Given the description of an element on the screen output the (x, y) to click on. 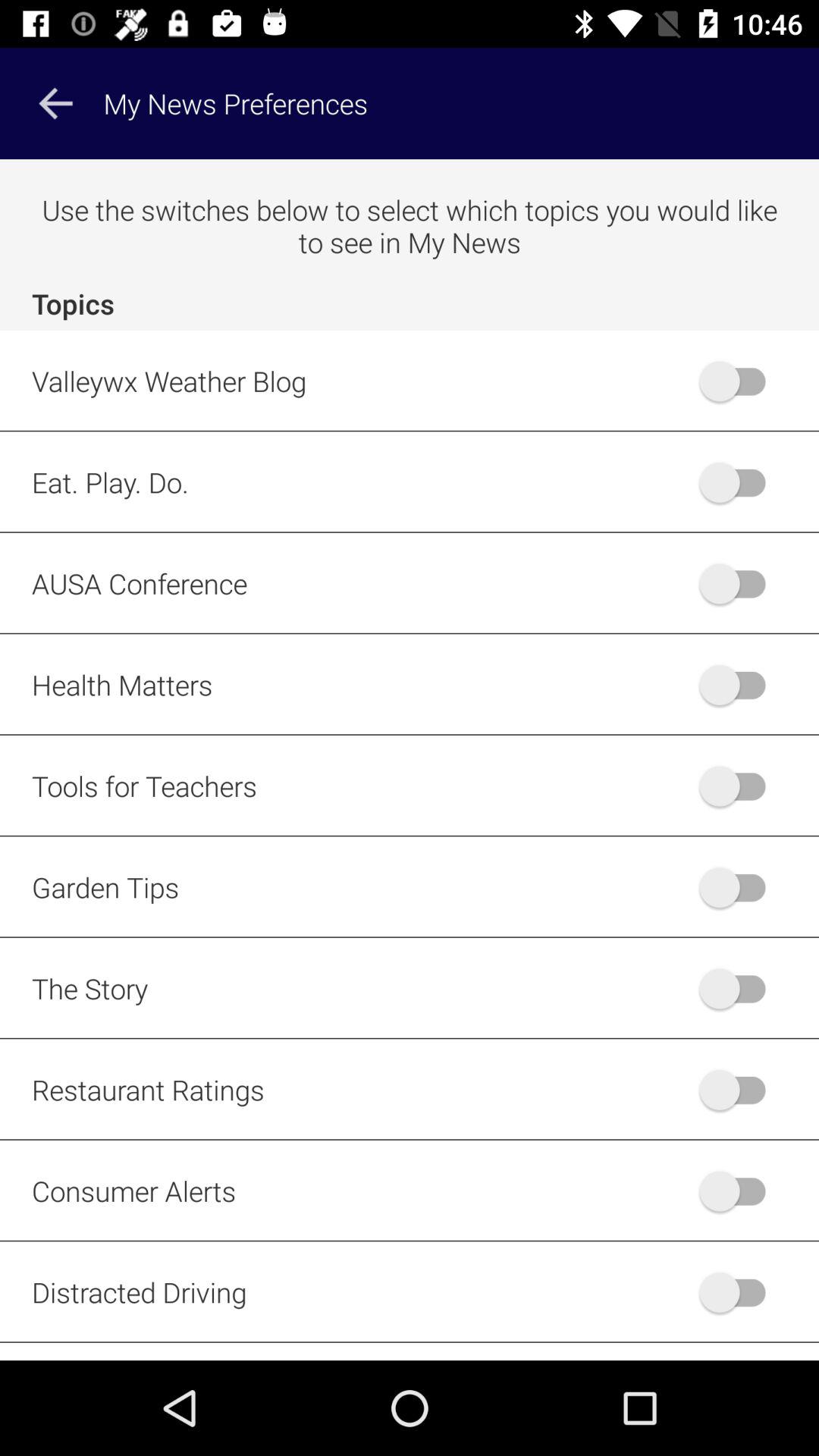
go to volum (739, 785)
